Given the description of an element on the screen output the (x, y) to click on. 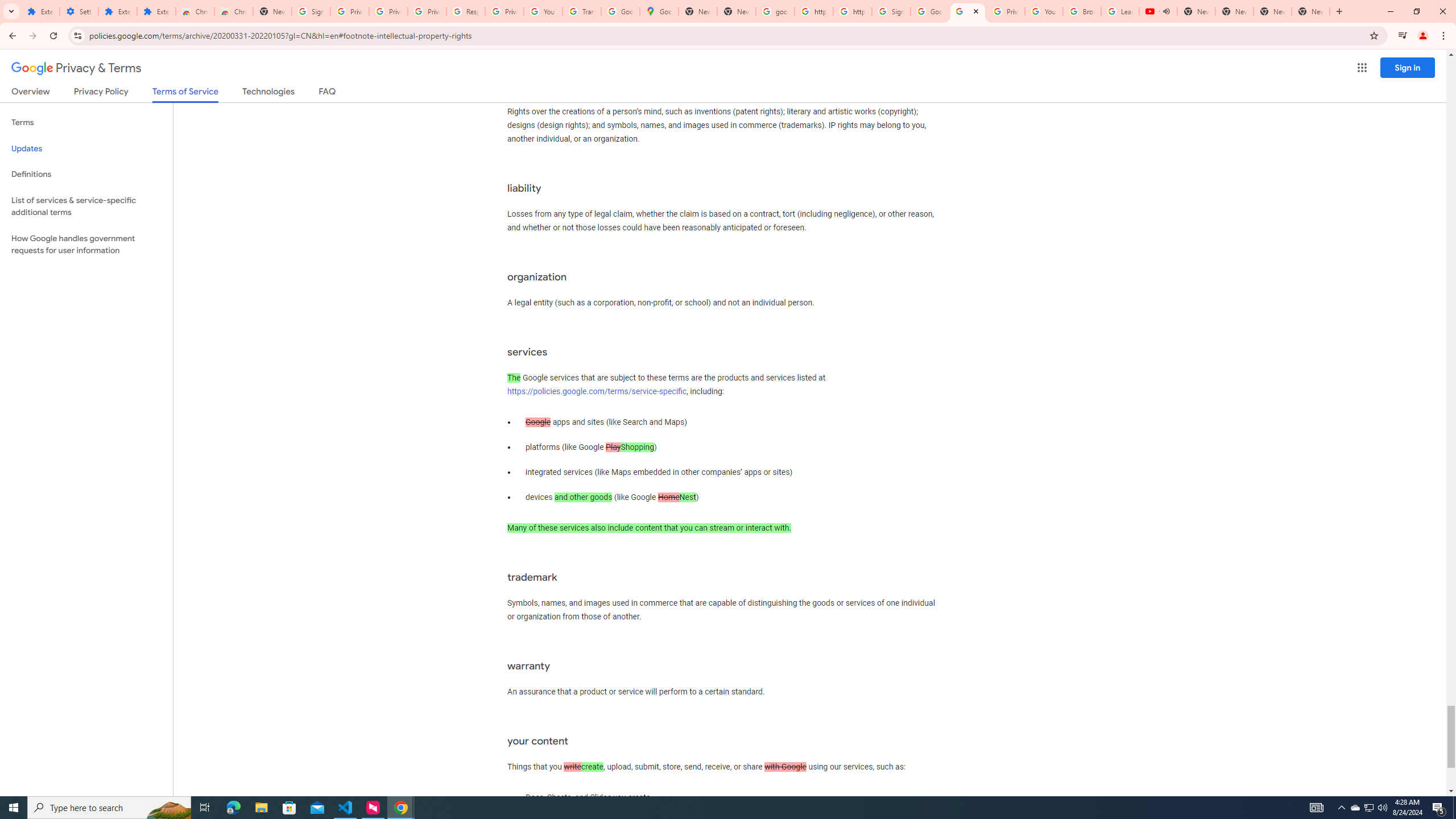
Sign in - Google Accounts (890, 11)
